Given the description of an element on the screen output the (x, y) to click on. 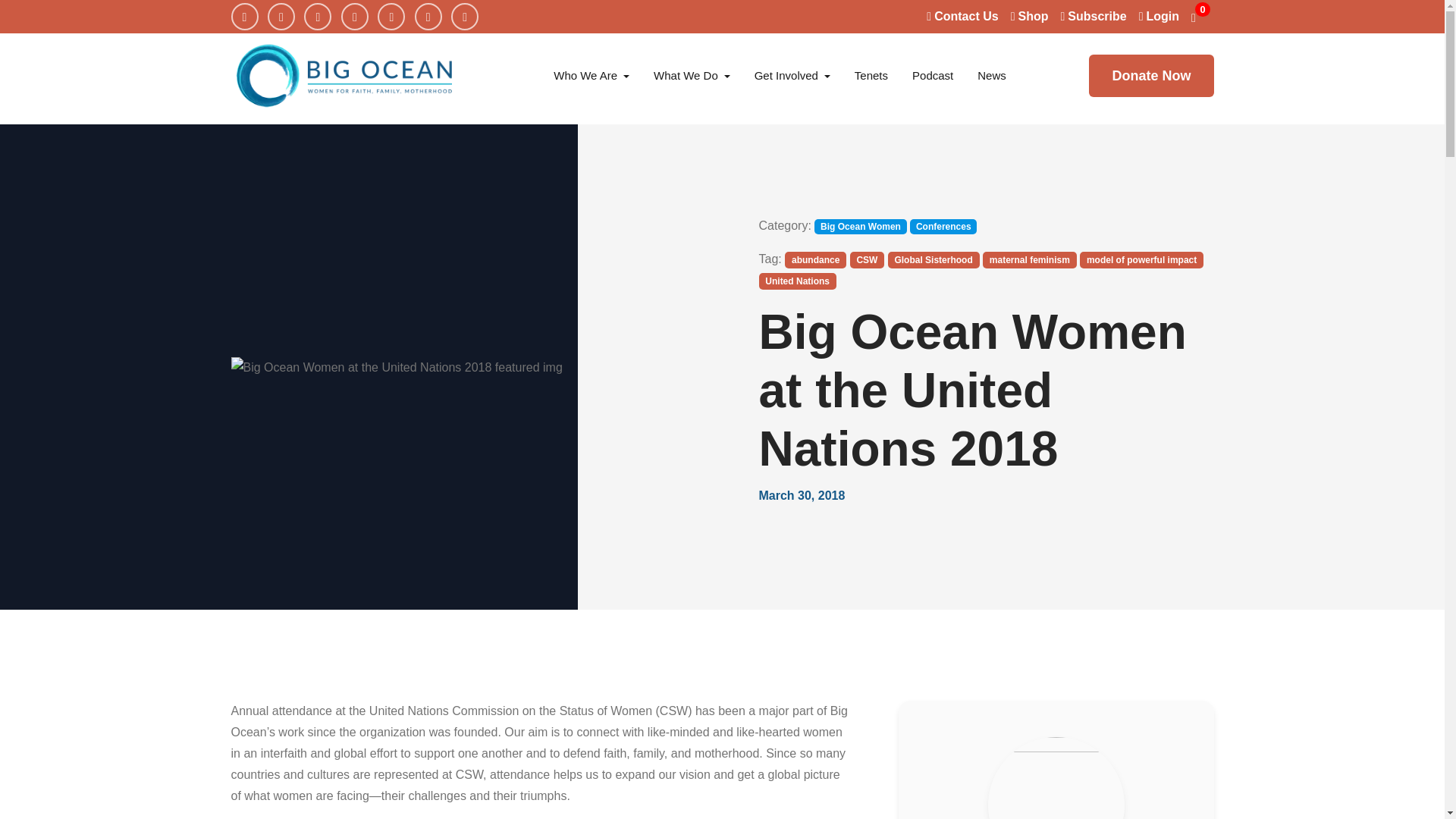
Get Involved (792, 76)
0 (1201, 15)
Podcast (932, 76)
Login (1158, 16)
Contact Us (961, 16)
News (991, 76)
Subscribe (1092, 16)
Donate Now (1150, 75)
Shop (1029, 16)
Who We Are (591, 76)
What We Do (692, 76)
Get Involved (792, 76)
Who We Are (591, 76)
Tenets (871, 76)
View your shopping cart (1201, 15)
